Given the description of an element on the screen output the (x, y) to click on. 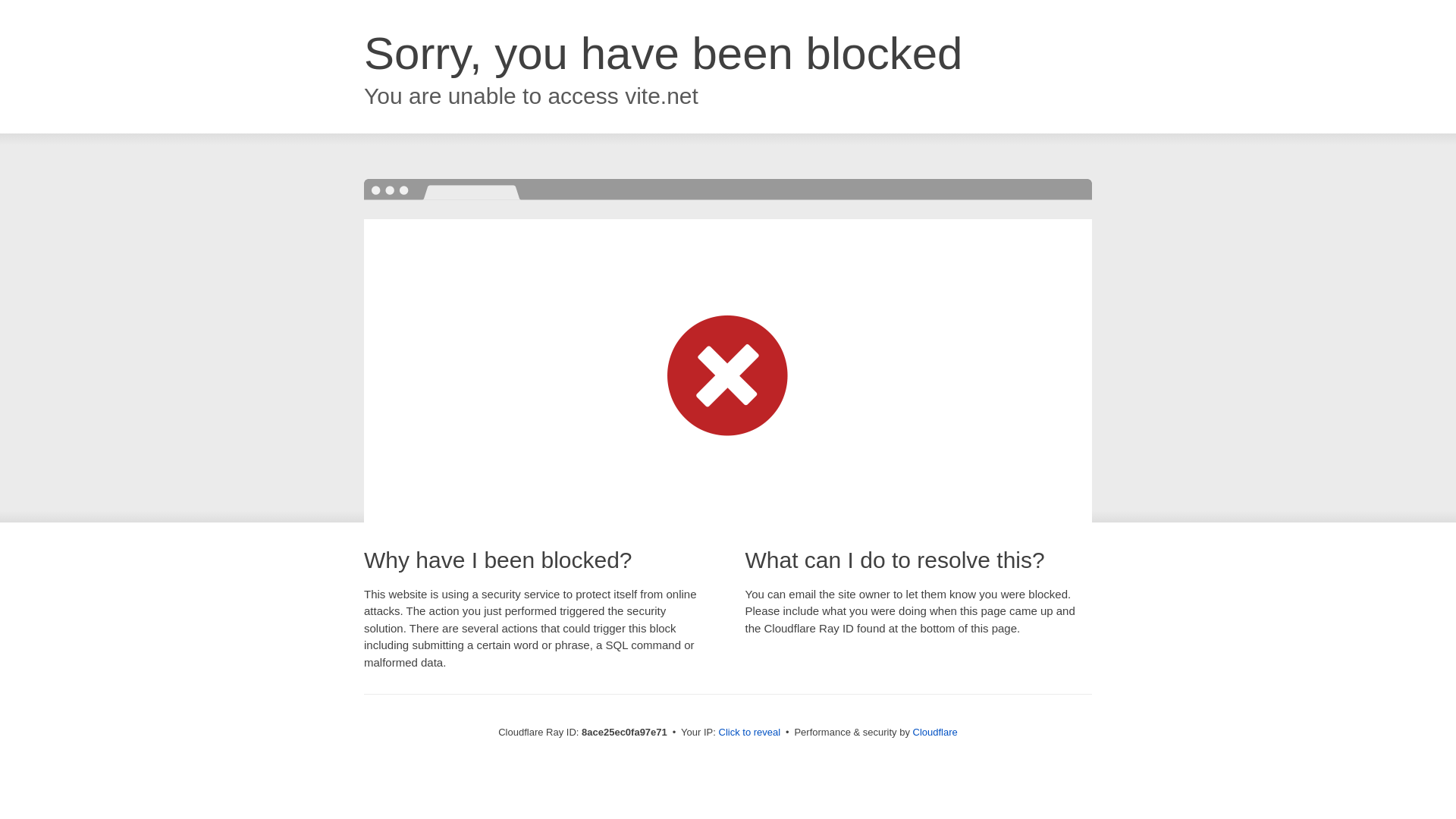
Cloudflare (935, 731)
Click to reveal (749, 732)
